Given the description of an element on the screen output the (x, y) to click on. 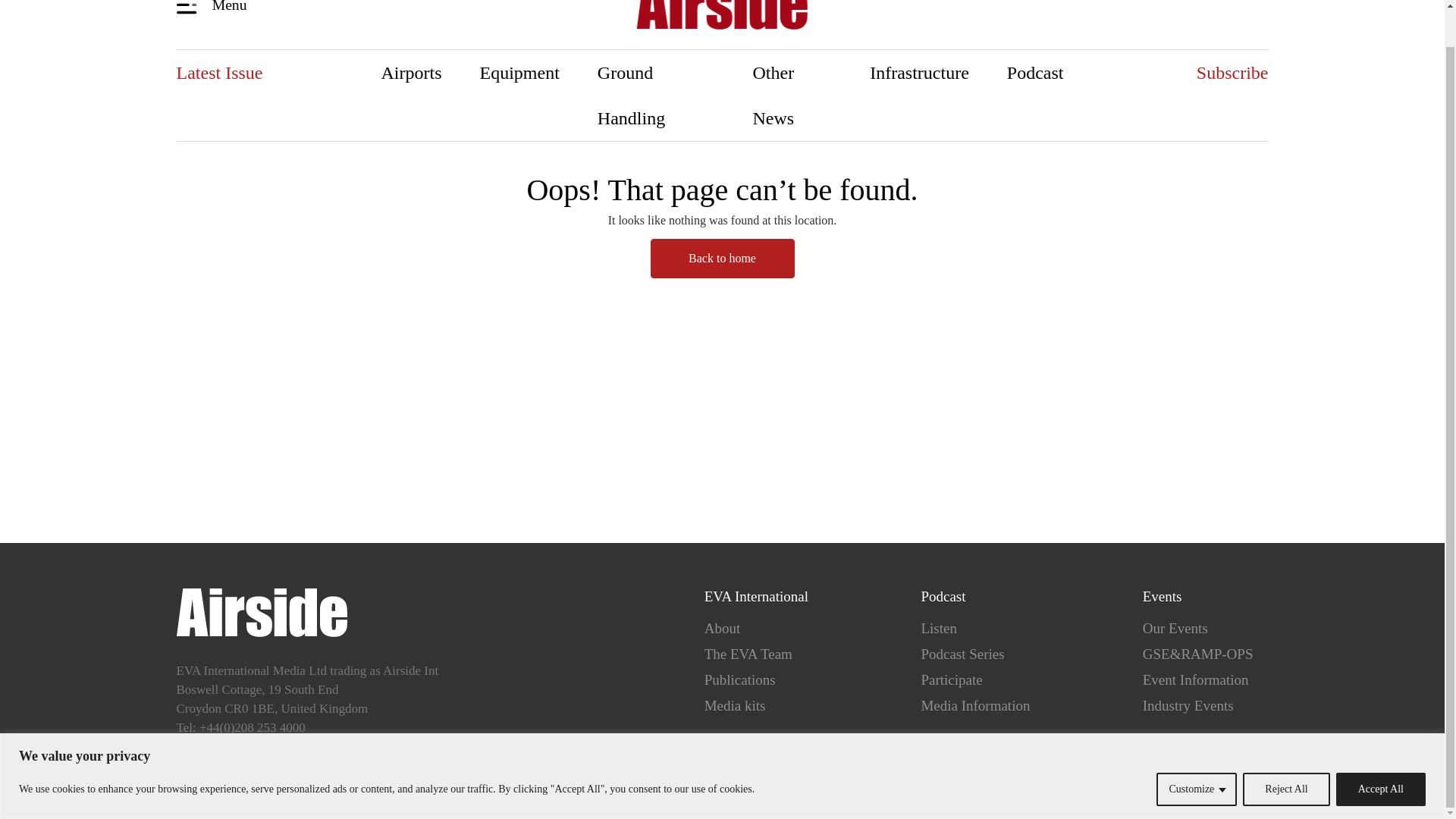
Menu (213, 7)
Airports (411, 72)
Podcast (1035, 72)
Ground Handling (655, 94)
Equipment (519, 72)
Accept All (1380, 749)
Reject All (1286, 749)
Infrastructure (919, 72)
Other News (792, 94)
Customize (1196, 749)
Latest Issue (219, 72)
Airside International (722, 16)
